Given the description of an element on the screen output the (x, y) to click on. 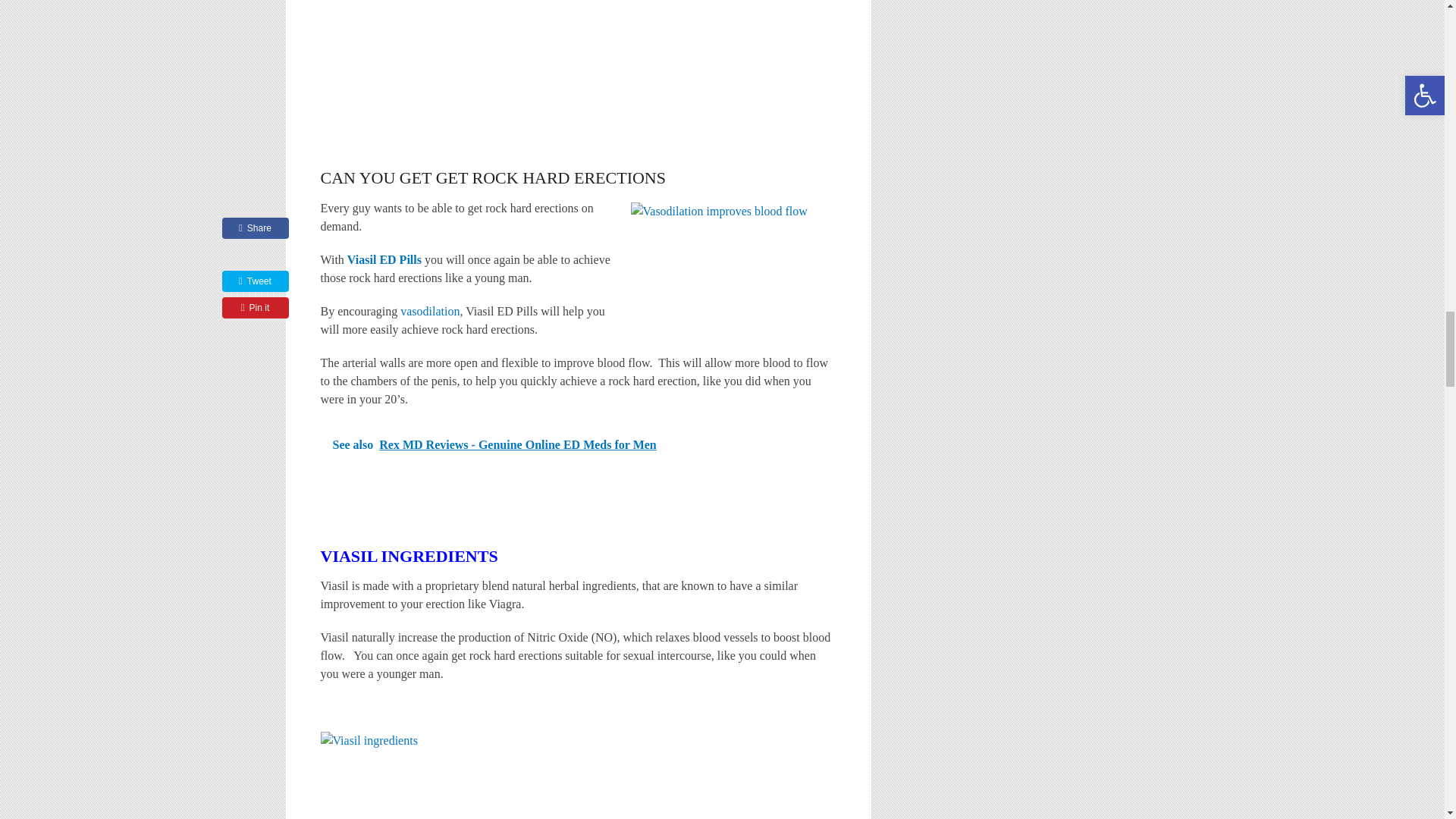
Viasil ED Pills (414, 75)
Viasil ED Pills (386, 259)
Viasil ED Pills (732, 255)
Viasil (566, 775)
vasodilation (430, 310)
See also  Rex MD Reviews - Genuine Online ED Meds for Men (577, 445)
